Given the description of an element on the screen output the (x, y) to click on. 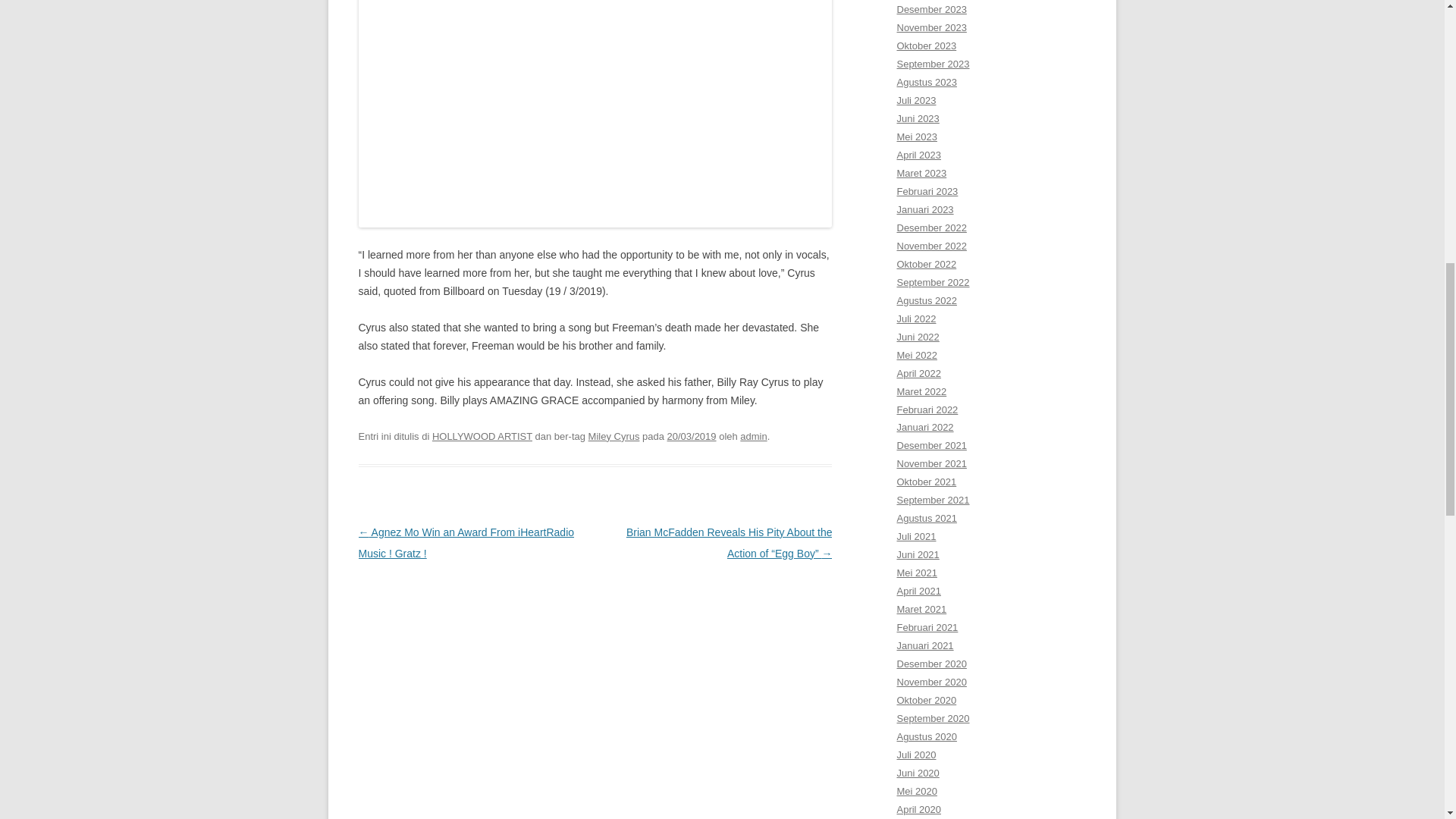
November 2023 (931, 27)
September 2023 (932, 63)
Lihat semua tulisan oleh admin (753, 436)
HOLLYWOOD ARTIST (482, 436)
Desember 2023 (931, 9)
Mei 2023 (916, 136)
17:38 (691, 436)
Juli 2023 (916, 100)
April 2023 (918, 154)
Maret 2023 (921, 173)
admin (753, 436)
Miley Cyrus (614, 436)
Oktober 2023 (926, 45)
Juni 2023 (917, 118)
Agustus 2023 (926, 81)
